Given the description of an element on the screen output the (x, y) to click on. 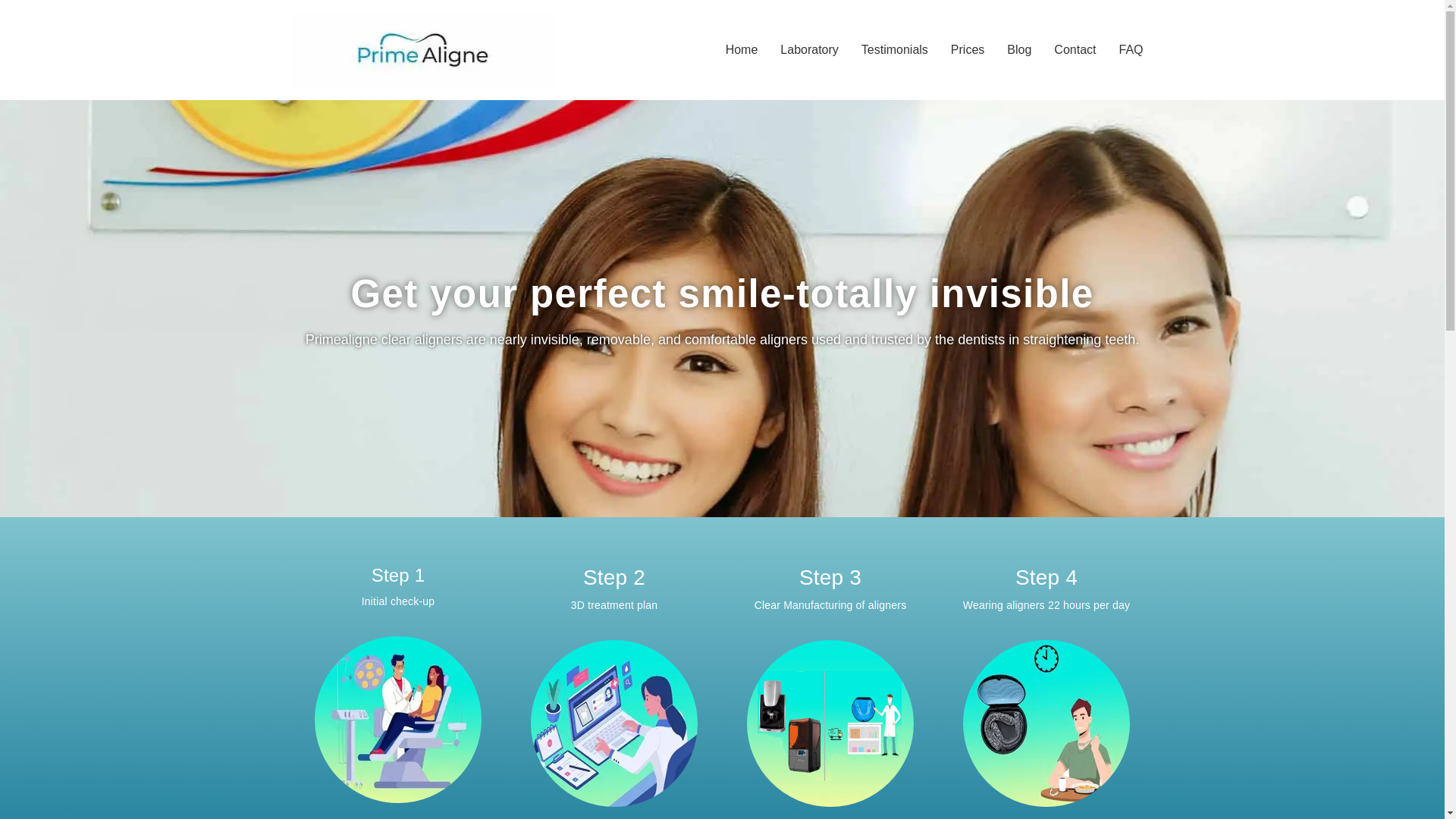
FAQ (1130, 50)
Contact (1074, 50)
Prices (967, 50)
Blog (1018, 50)
Home (742, 50)
Laboratory (809, 50)
Testimonials (894, 50)
